Given the description of an element on the screen output the (x, y) to click on. 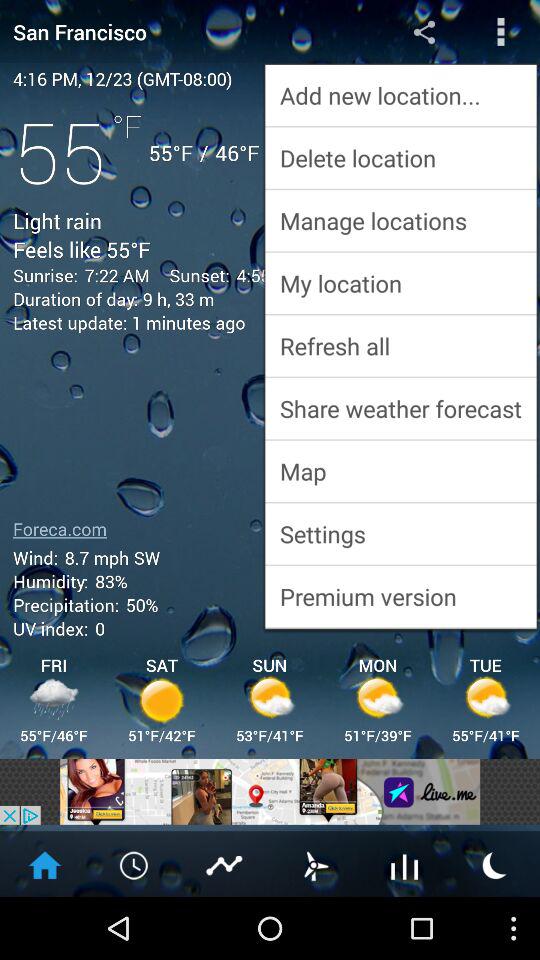
press map (400, 470)
